Given the description of an element on the screen output the (x, y) to click on. 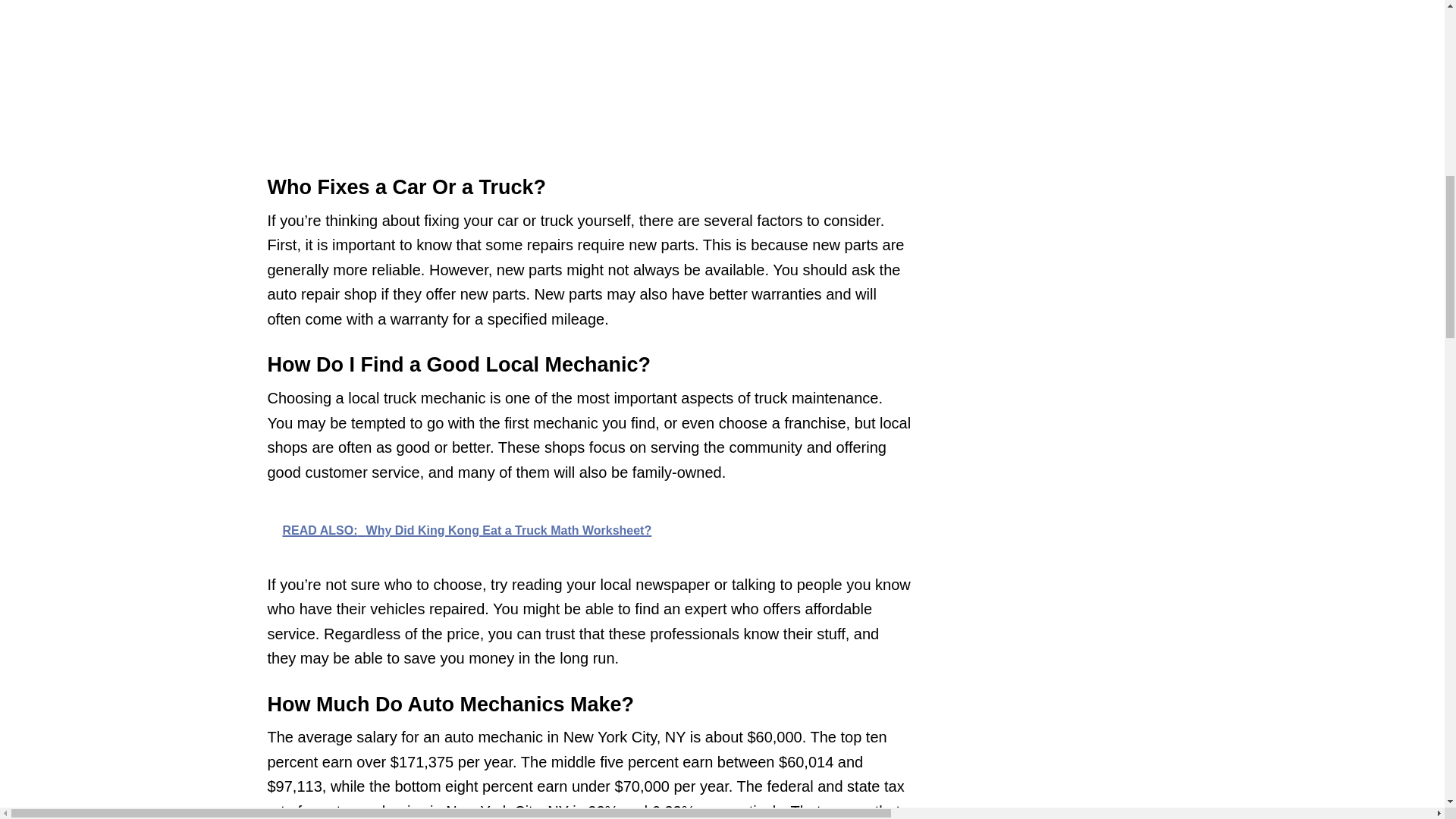
READ ALSO:  Why Did King Kong Eat a Truck Math Worksheet? (588, 529)
